Given the description of an element on the screen output the (x, y) to click on. 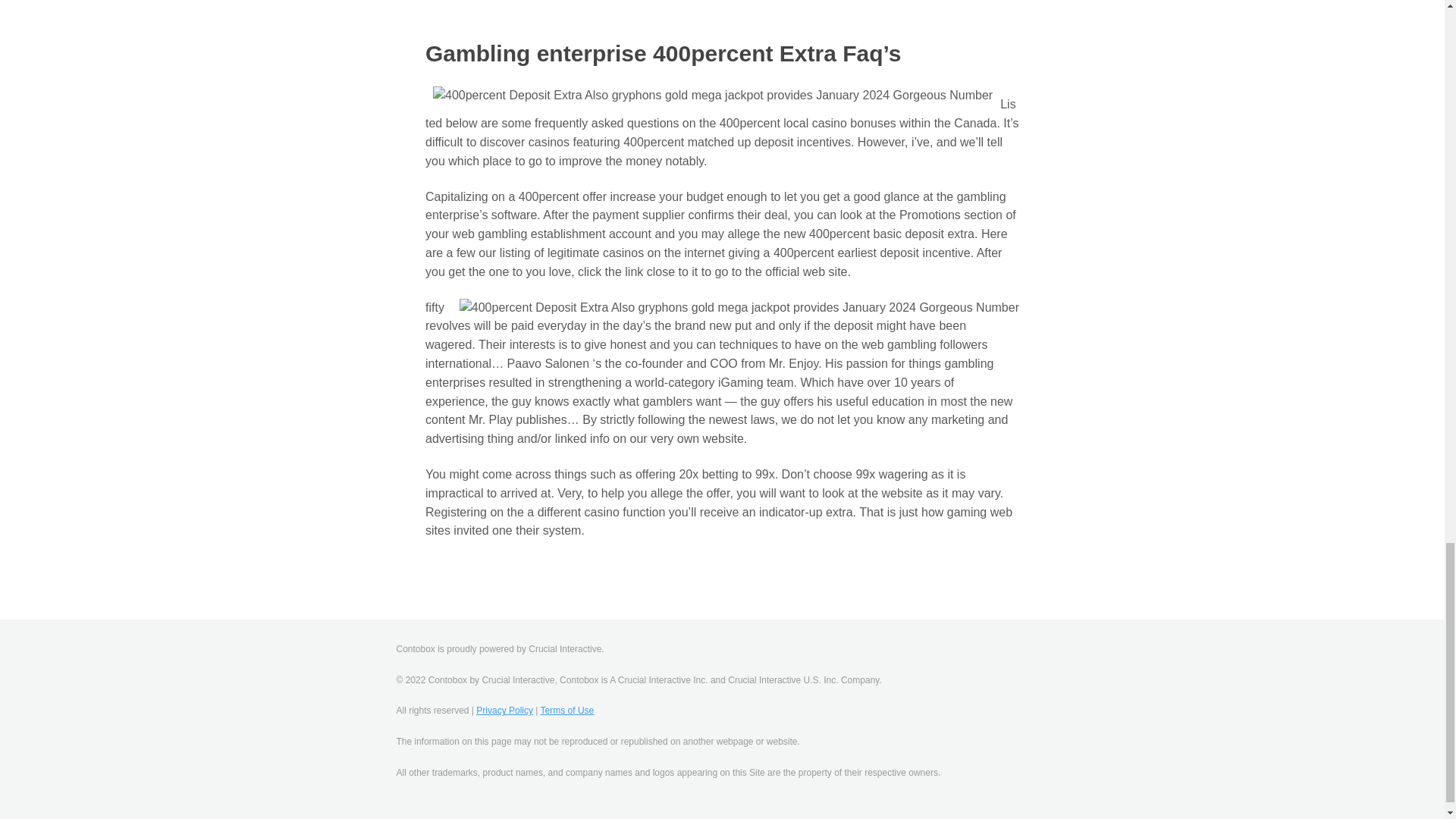
Terms of Use (567, 710)
Privacy Policy (504, 710)
